Given the description of an element on the screen output the (x, y) to click on. 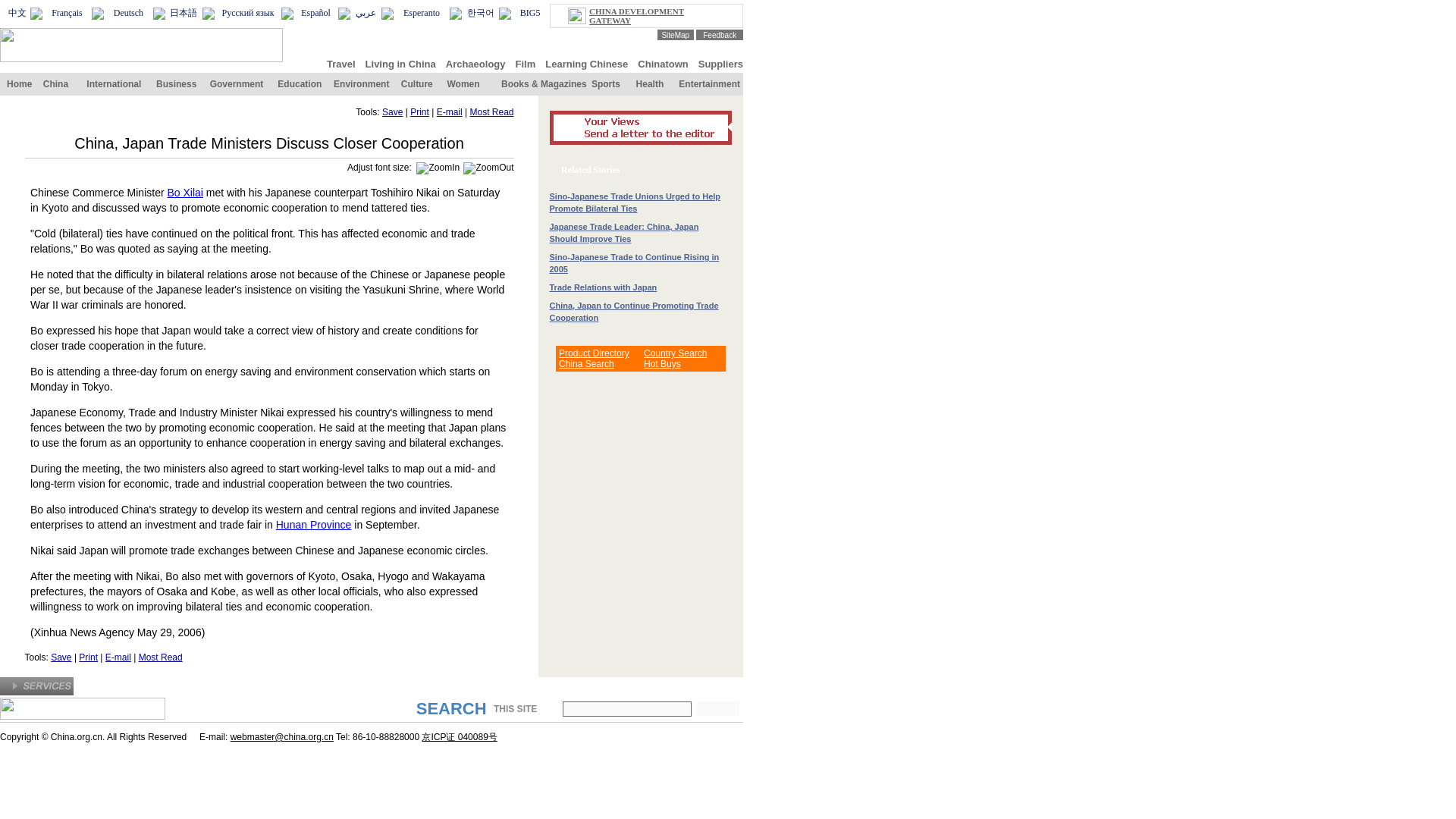
Travel (340, 62)
Home (19, 83)
Environment (360, 83)
Most Read (490, 112)
Sports (605, 83)
Deutsch (127, 12)
Culture (416, 83)
Film (525, 62)
Alibaba Directory (593, 353)
CHINA DEVELOPMENT GATEWAY (636, 15)
Entertainment (708, 83)
Chinatown (662, 62)
Alibaba China (586, 363)
Education (299, 83)
Government (236, 83)
